Given the description of an element on the screen output the (x, y) to click on. 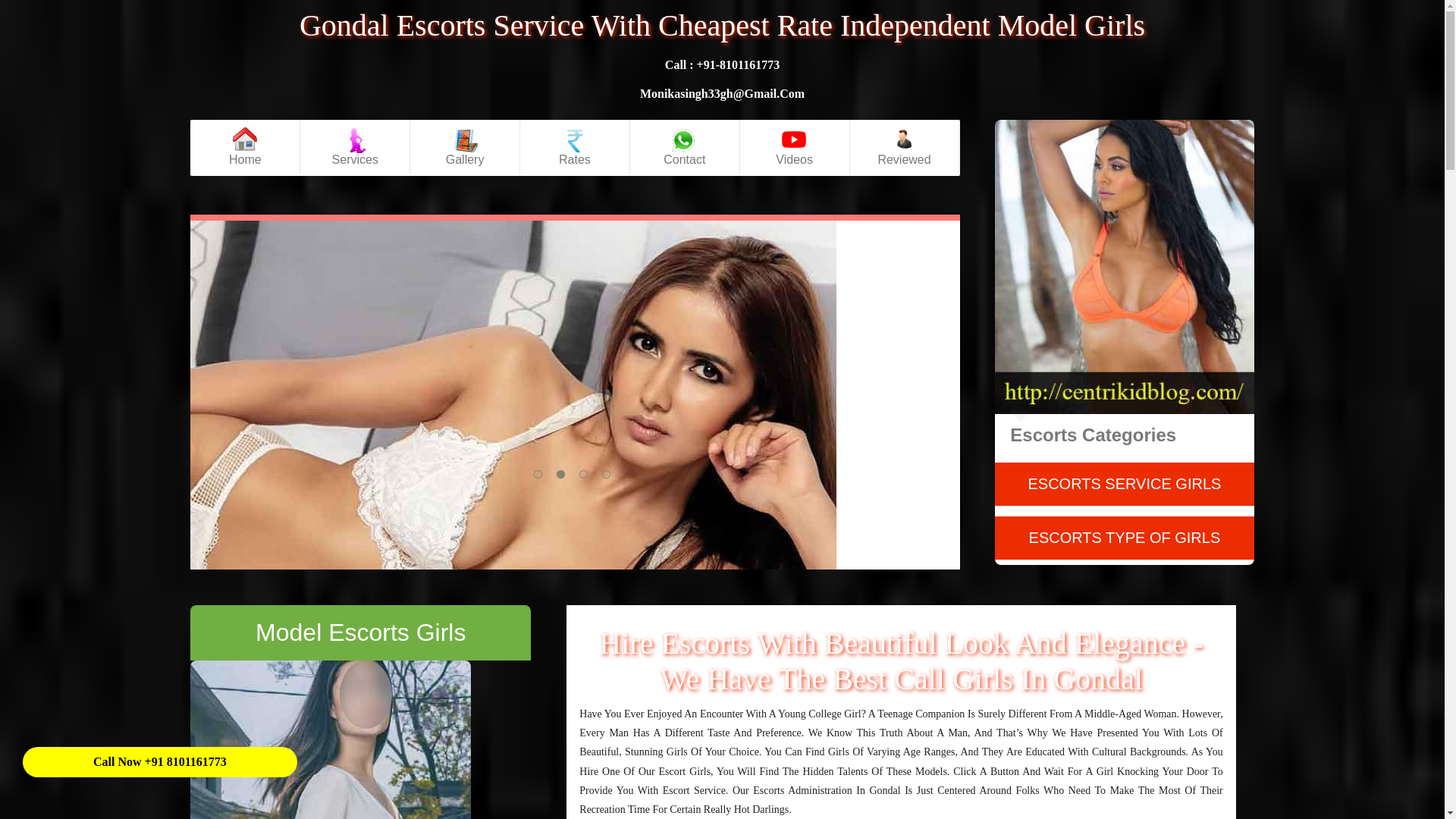
ahmedabad escorts services (354, 146)
Home (244, 146)
Videos (794, 146)
ahmedabad escorts pics (464, 146)
Contact (684, 146)
ahmedabad escorts girl whatsapp number (722, 93)
Reviewed (904, 146)
Beautiful hot female escorts gondal (330, 739)
Services (354, 146)
ahmedabad escorts rates (574, 146)
gondal  escorts service girl whatsapp number (722, 64)
Rates (574, 146)
ahmedabad escorts reviewed (904, 146)
Gallery (464, 146)
ahmedabad escorts Video (794, 146)
